Given the description of an element on the screen output the (x, y) to click on. 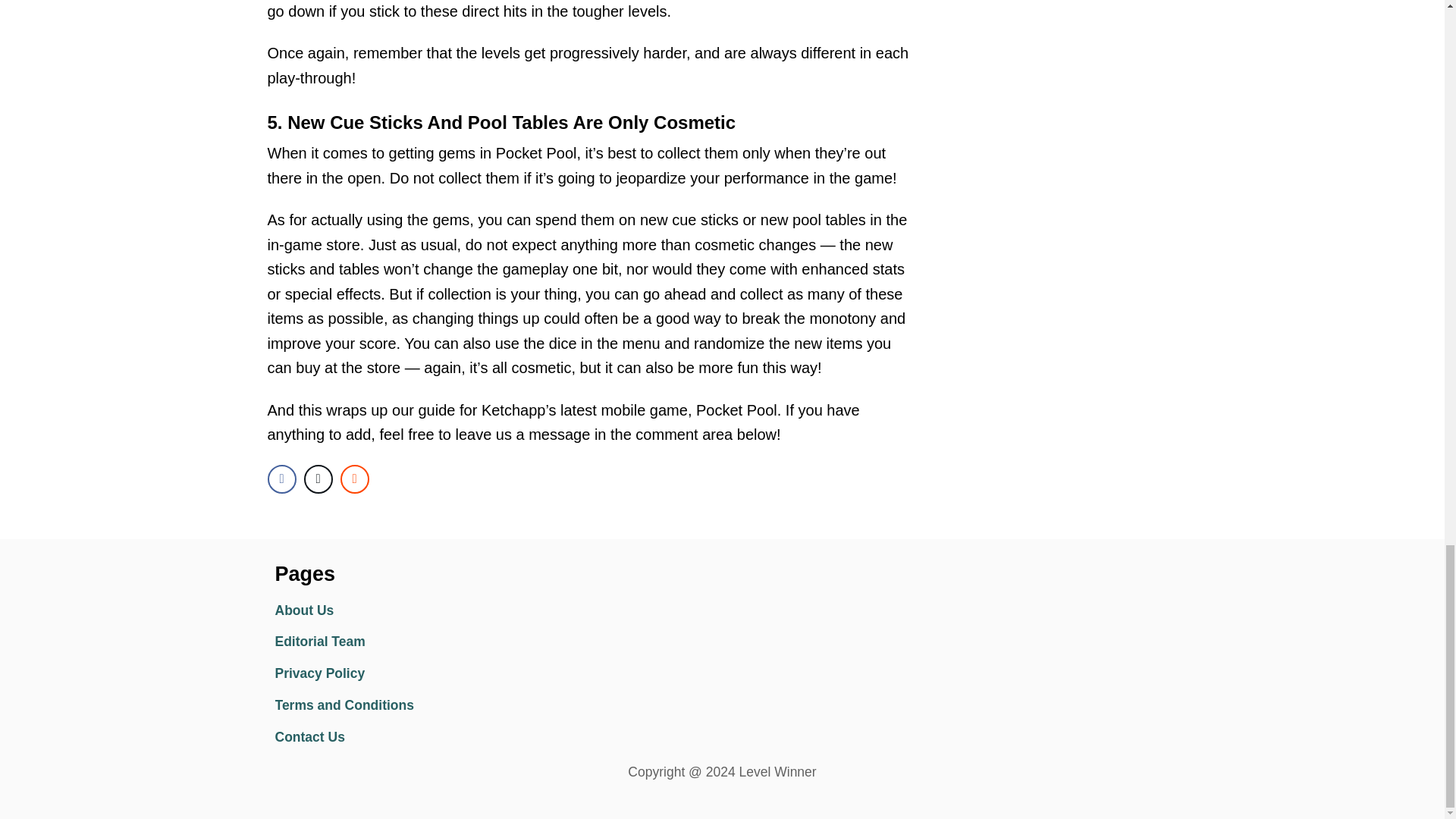
Editorial Team (406, 642)
Contact Us (406, 737)
Privacy Policy (406, 674)
Terms and Conditions (406, 705)
About Us (406, 611)
